Given the description of an element on the screen output the (x, y) to click on. 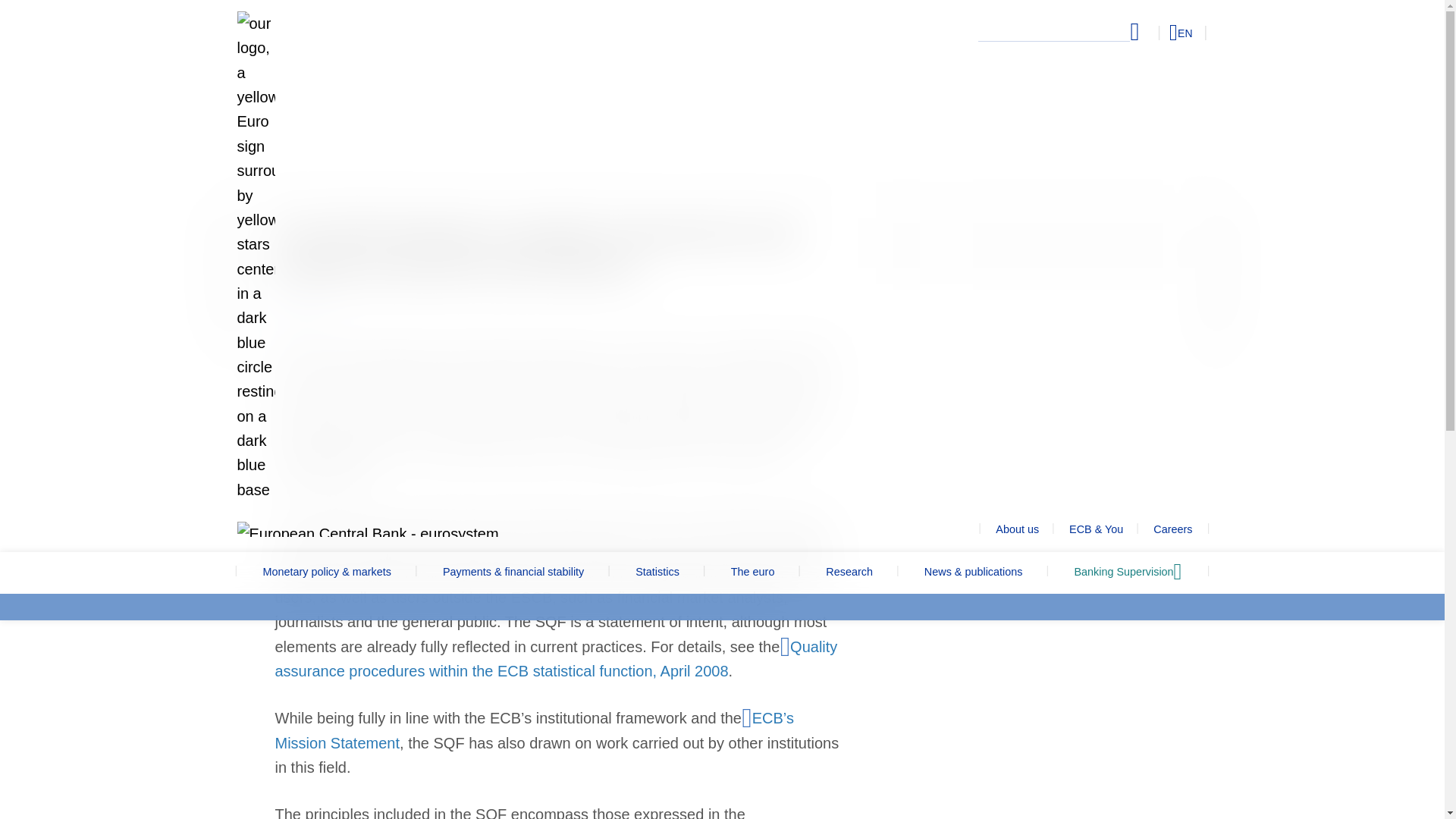
Select language (1153, 32)
